Given the description of an element on the screen output the (x, y) to click on. 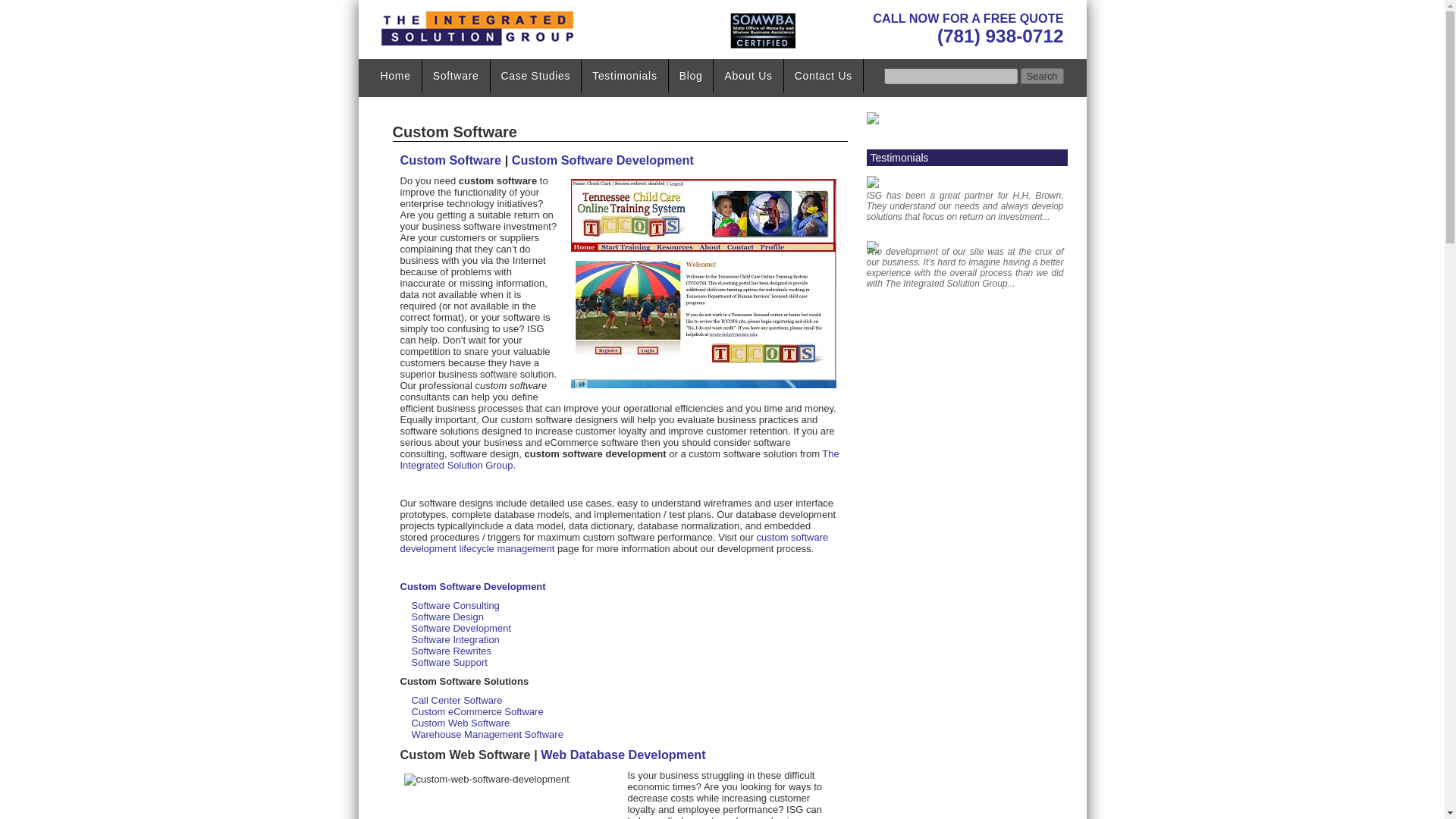
Software (455, 75)
Software Development (460, 627)
Custom Software Development Lifecycle Management (614, 542)
About Us (748, 75)
Software Rewrites (450, 650)
Software Design (446, 616)
Search (1042, 75)
Software Integration (454, 639)
Custom Software Development (603, 160)
The Integrated Solution Group (620, 458)
